Given the description of an element on the screen output the (x, y) to click on. 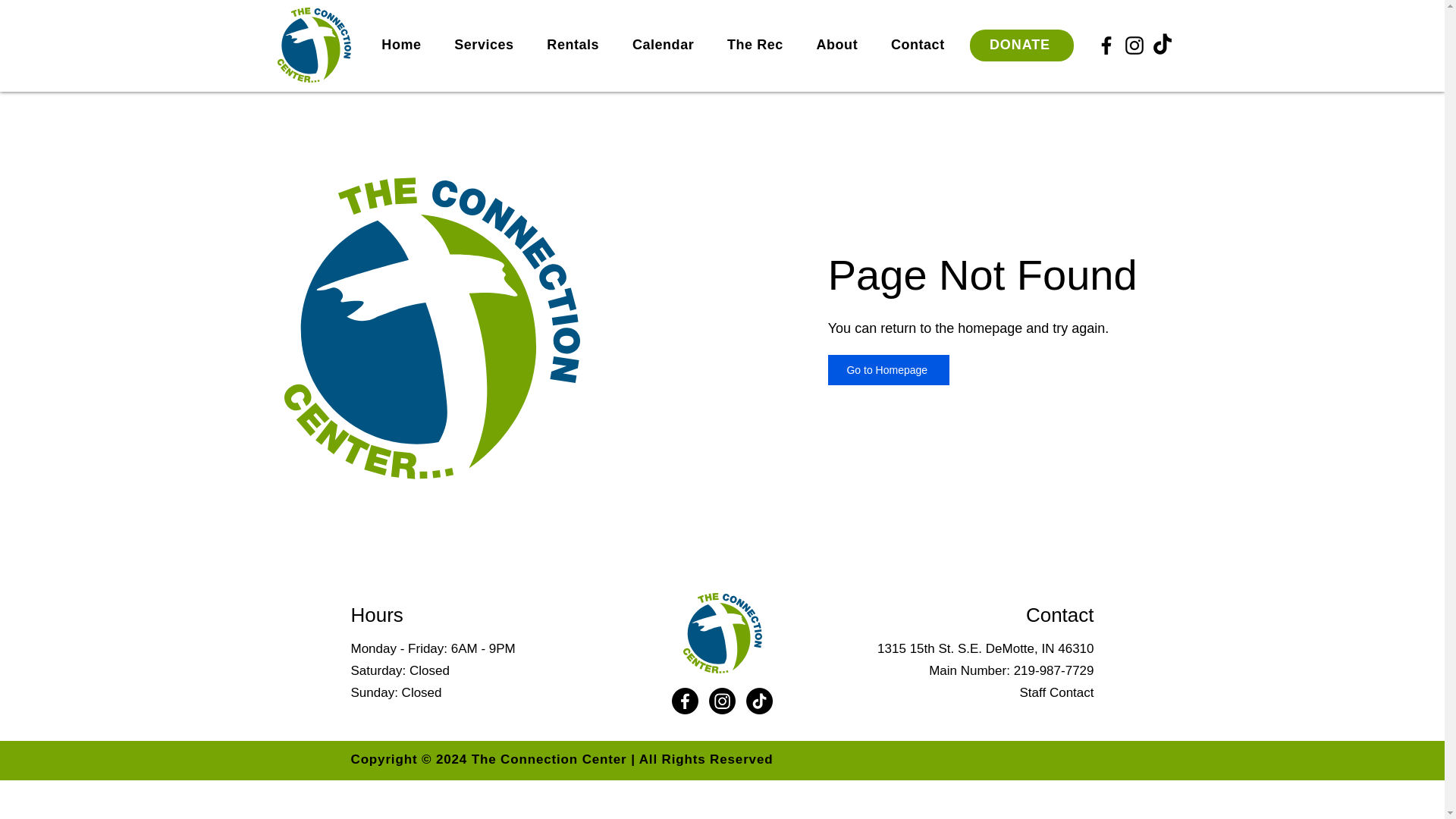
1315 15th St. S.E. DeMotte, IN 46310 (985, 648)
Home (401, 44)
Staff Contact (1057, 692)
DONATE (1021, 45)
Go to Homepage (888, 369)
219-987-7729 (1053, 670)
